Given the description of an element on the screen output the (x, y) to click on. 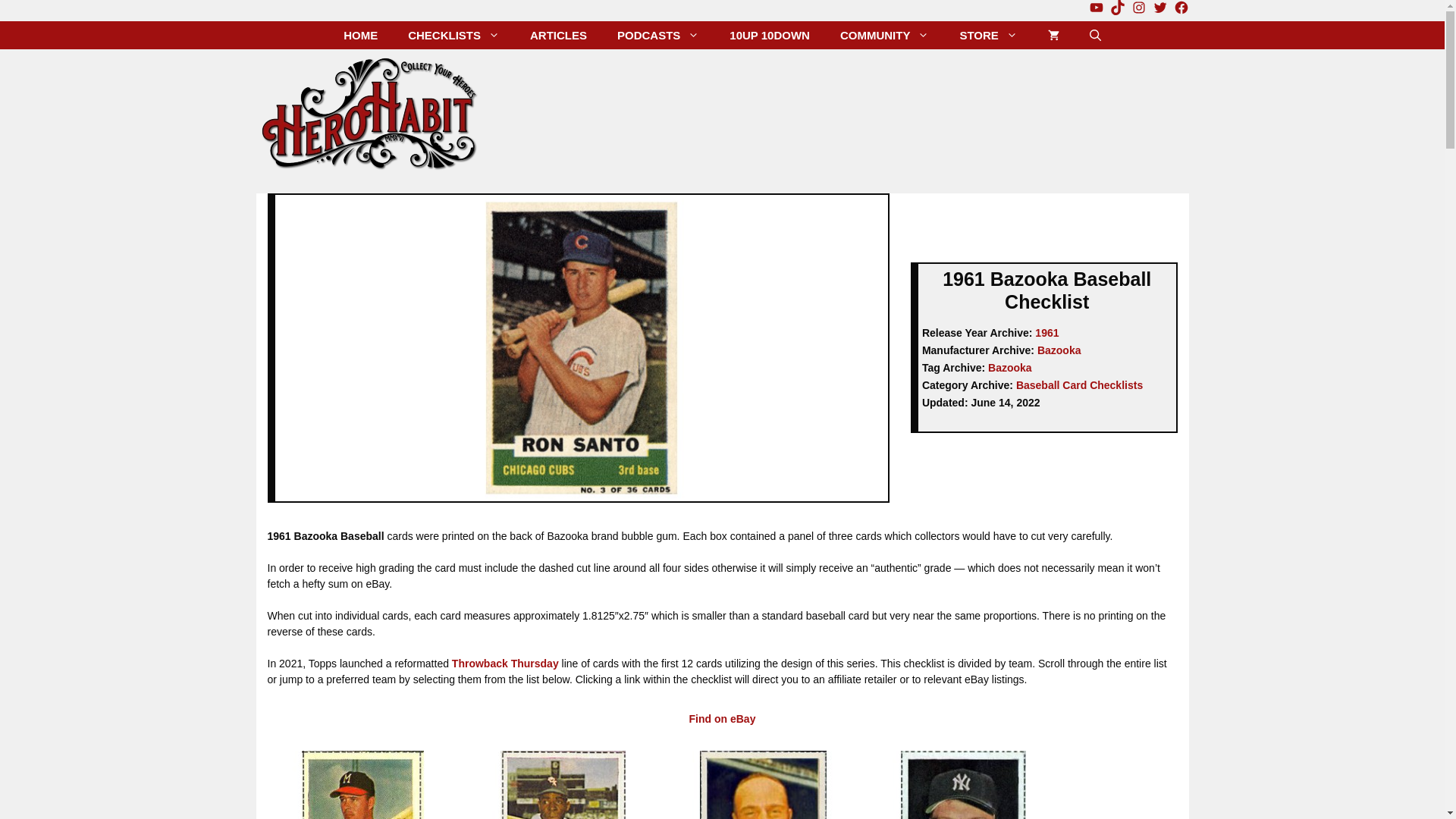
PODCASTS (658, 35)
Bazooka (1058, 349)
COMMUNITY (884, 35)
ARTICLES (558, 35)
Instagram (1139, 7)
STORE (987, 35)
Facebook (1181, 7)
YouTube (1096, 7)
1961 (1046, 332)
TikTok (1117, 7)
CHECKLISTS (454, 35)
HOME (361, 35)
Throwback Thursday (505, 663)
Store (987, 35)
10UP 10DOWN (769, 35)
